Given the description of an element on the screen output the (x, y) to click on. 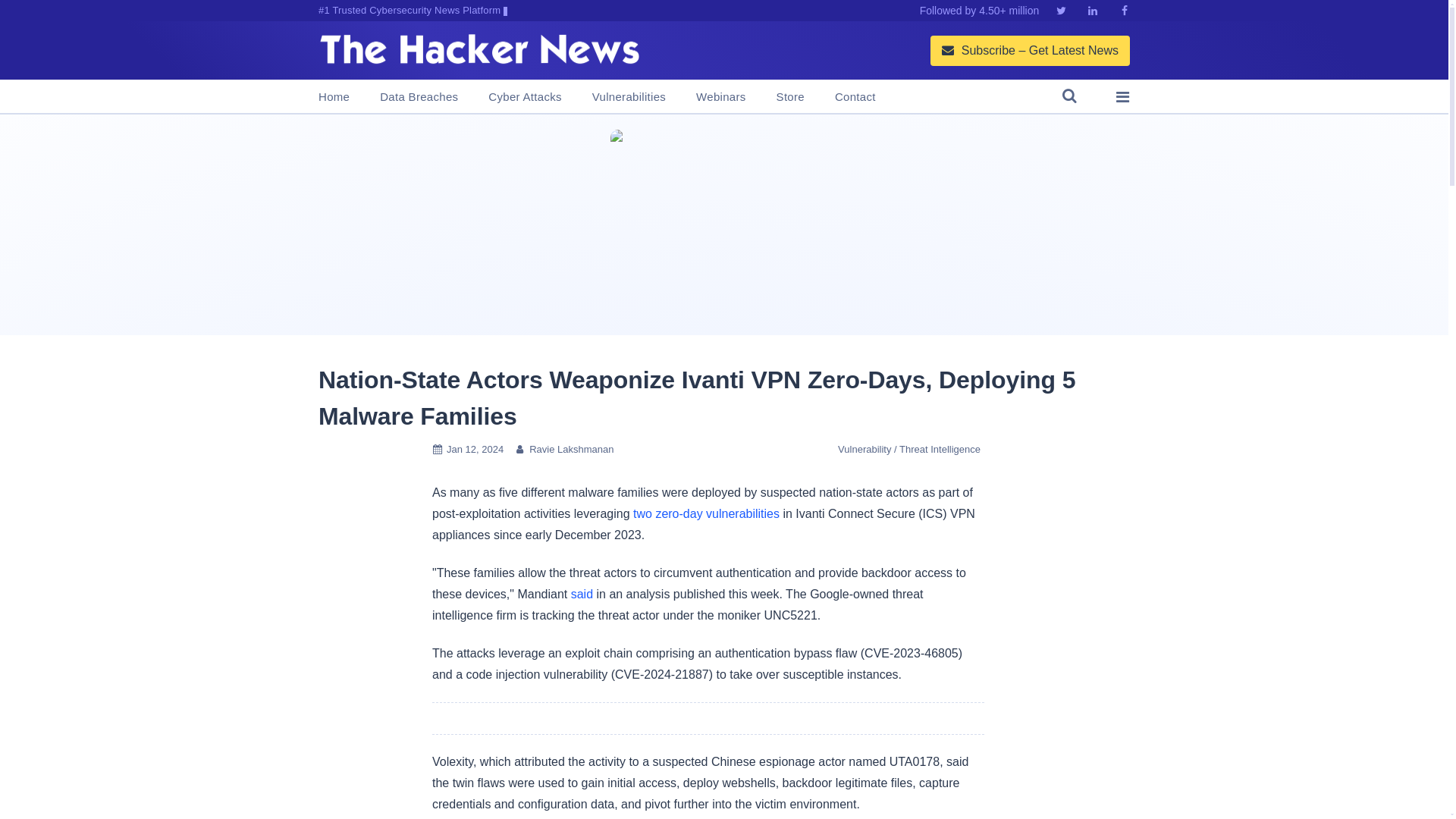
Cyber Attacks (523, 96)
Home (333, 96)
Webinars (720, 96)
Vulnerabilities (628, 96)
Data Breaches (419, 96)
Contact (855, 96)
said (581, 594)
Store (790, 96)
two zero-day vulnerabilities (705, 513)
